Given the description of an element on the screen output the (x, y) to click on. 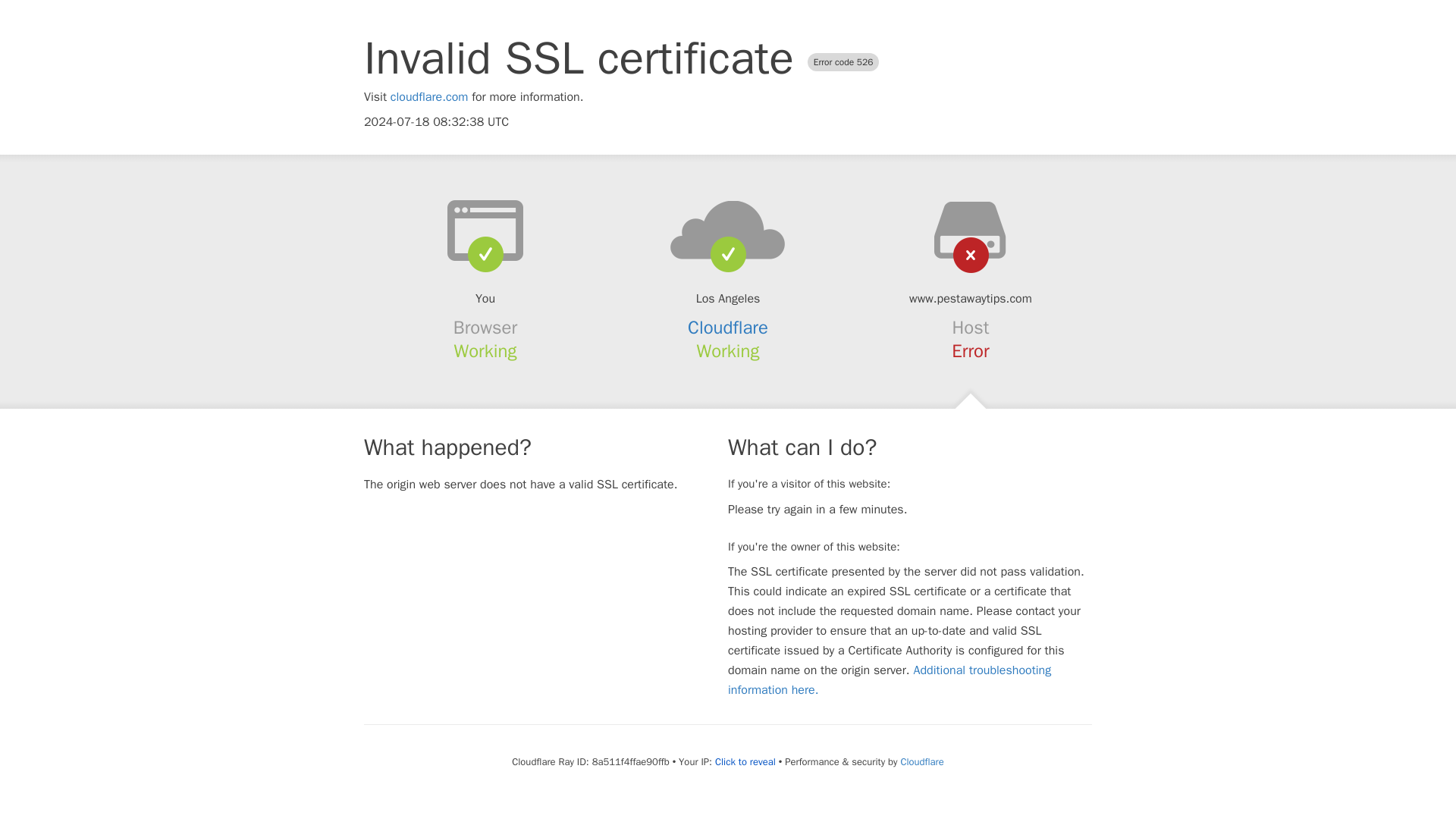
Cloudflare (921, 761)
cloudflare.com (429, 96)
Additional troubleshooting information here. (889, 679)
Cloudflare (727, 327)
Click to reveal (745, 762)
